Given the description of an element on the screen output the (x, y) to click on. 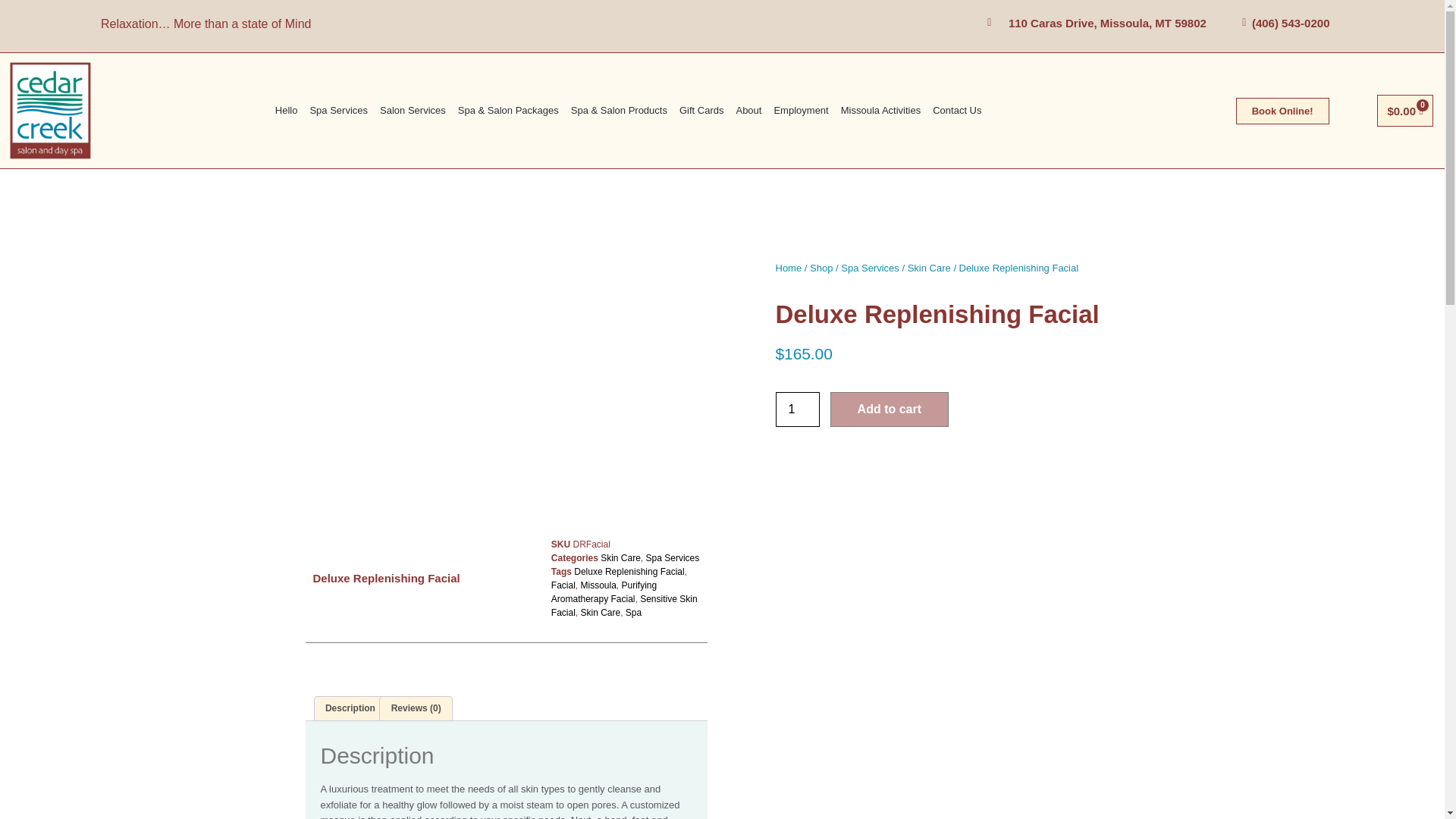
1 (796, 409)
